Given the description of an element on the screen output the (x, y) to click on. 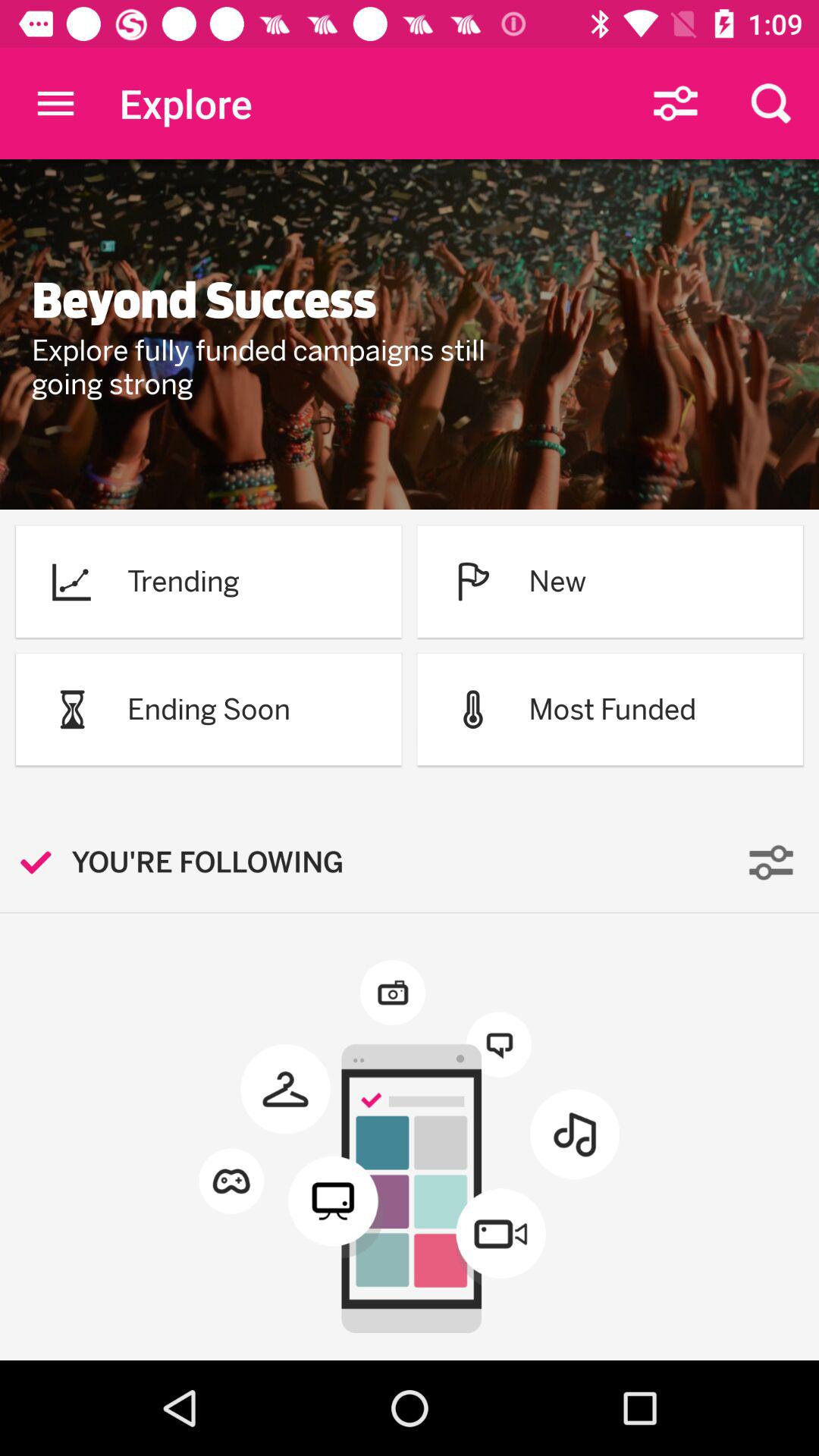
click on the trending option (208, 581)
click on the icon which is in between explore and search icon (675, 103)
select the icon which is right to the text youre following (771, 863)
